Given the description of an element on the screen output the (x, y) to click on. 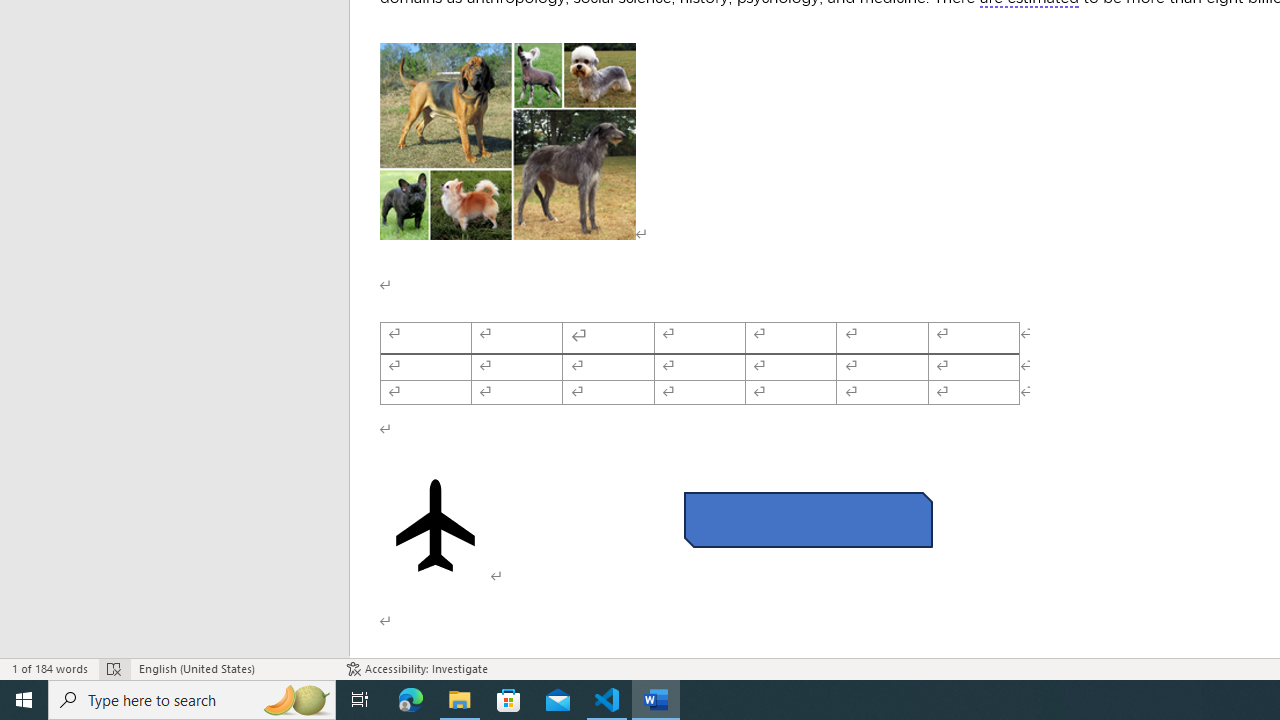
Accessibility Checker Accessibility: Investigate (417, 668)
Morphological variation in six dogs (508, 237)
Rectangle: Diagonal Corners Snipped 2 (808, 615)
Airplane with solid fill (435, 620)
Language English (United States) (232, 668)
Spelling and Grammar Check Errors (114, 668)
